Given the description of an element on the screen output the (x, y) to click on. 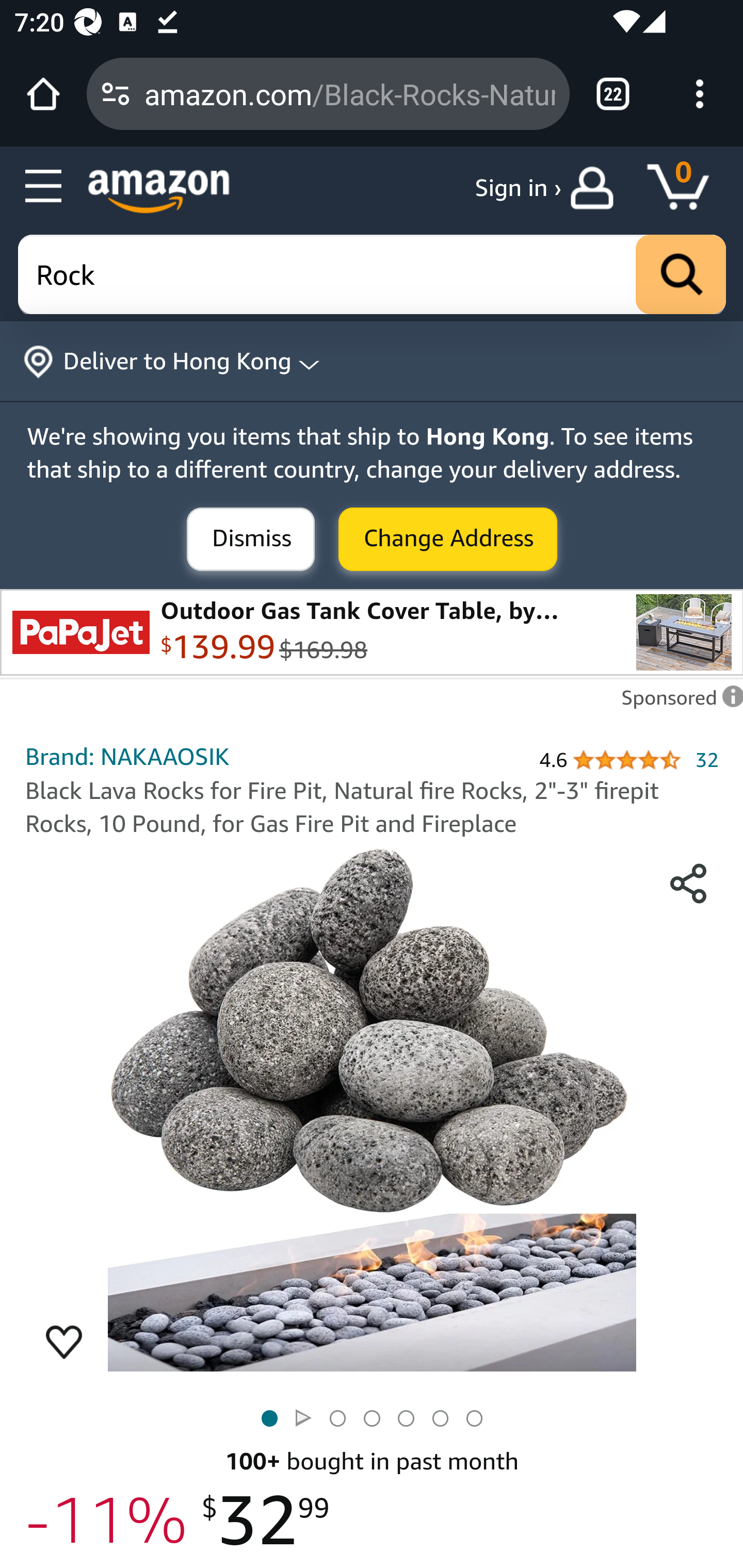
Open the home page (43, 93)
Connection is secure (115, 93)
Switch or close tabs (612, 93)
Customize and control Google Chrome (699, 93)
Open Menu (44, 187)
Sign in › (518, 188)
your account (596, 188)
Cart 0 (687, 188)
Amazon (158, 191)
Rock (372, 275)
Go (681, 275)
Submit (250, 539)
Submit (447, 539)
Brand: NAKAAOSIK (128, 755)
Heart to save an item to your default list (63, 1341)
Learn more about Amazon pricing and savings (225, 1565)
